Given the description of an element on the screen output the (x, y) to click on. 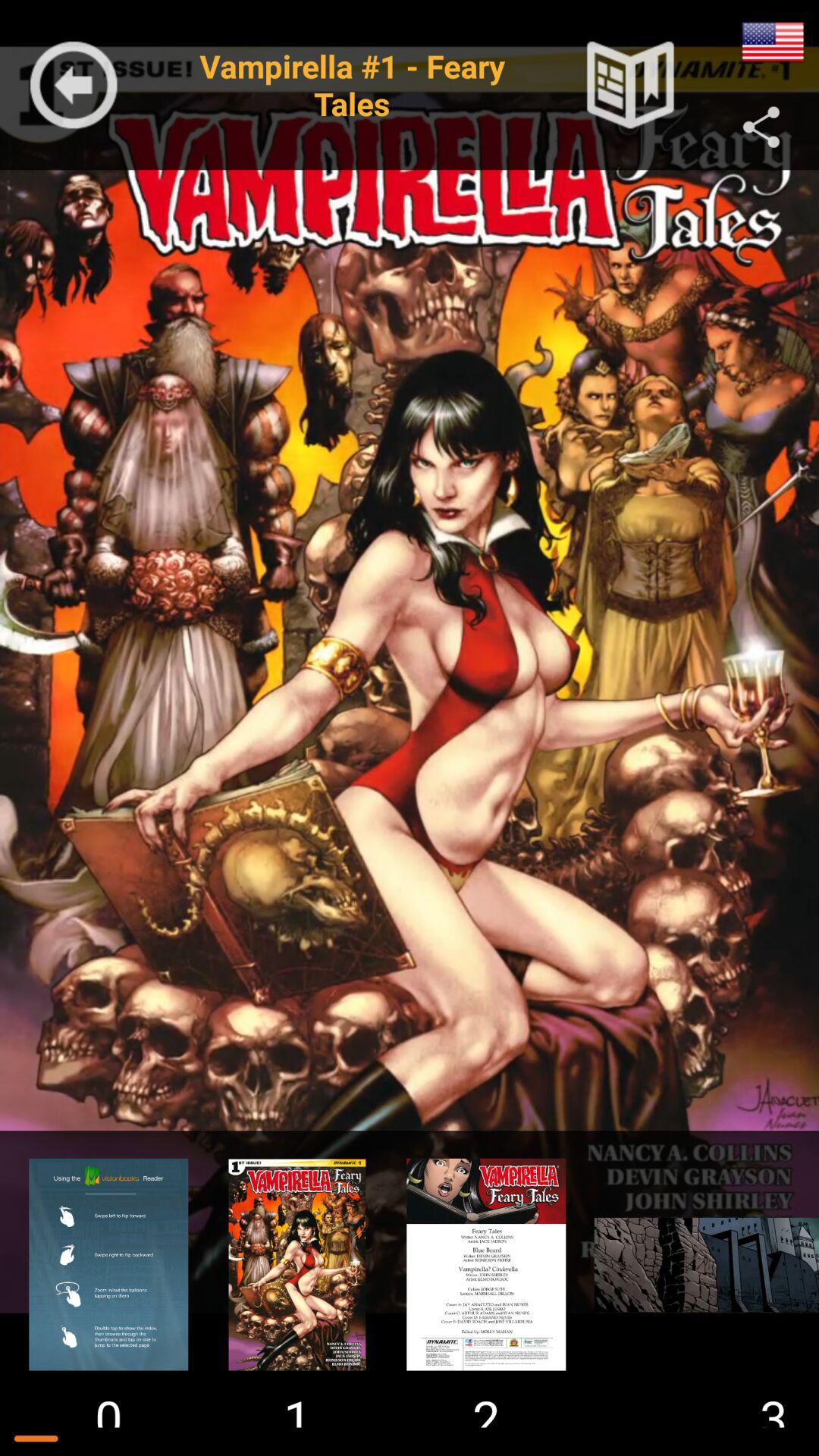
share the article (761, 127)
